Given the description of an element on the screen output the (x, y) to click on. 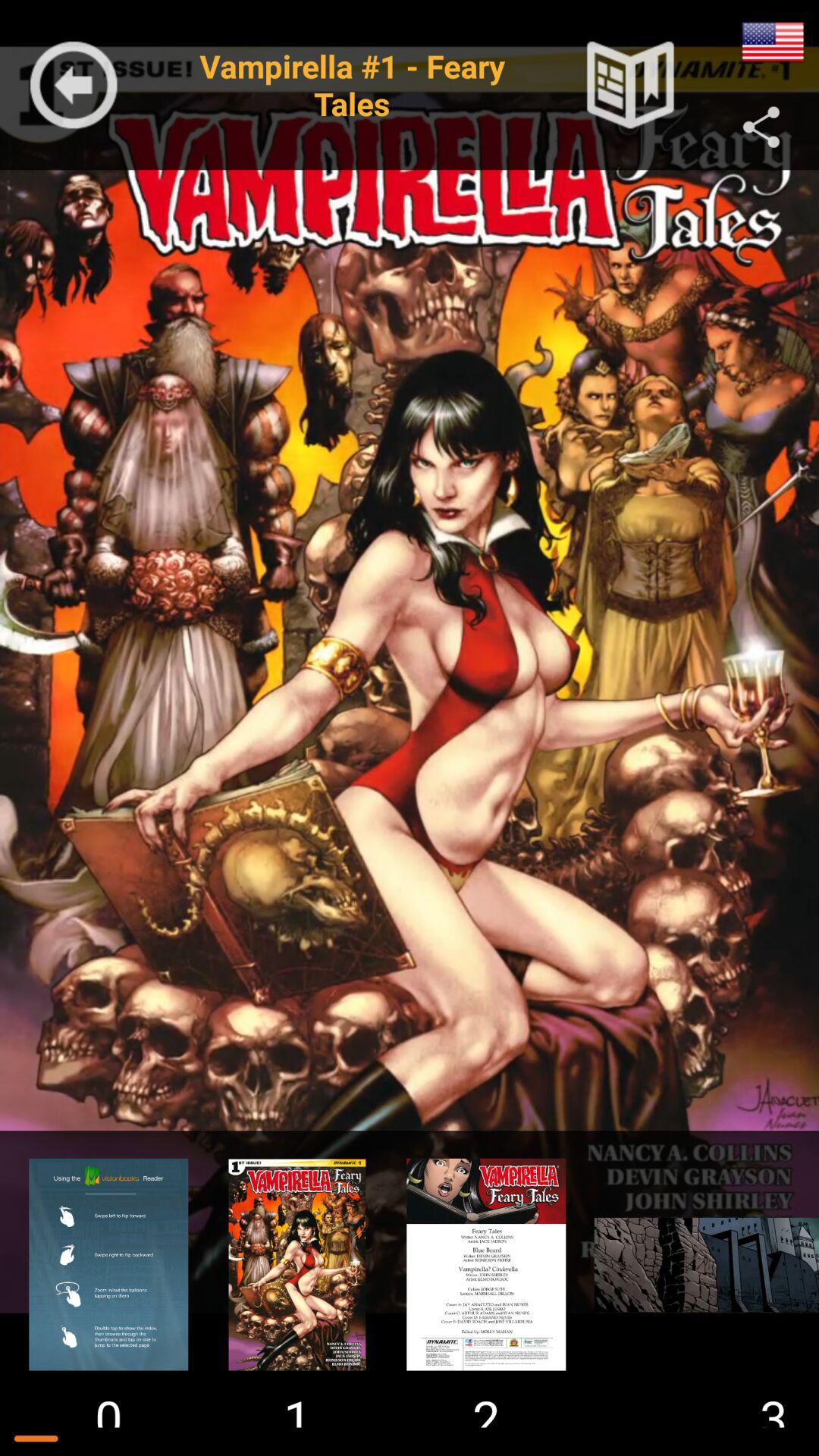
share the article (761, 127)
